Given the description of an element on the screen output the (x, y) to click on. 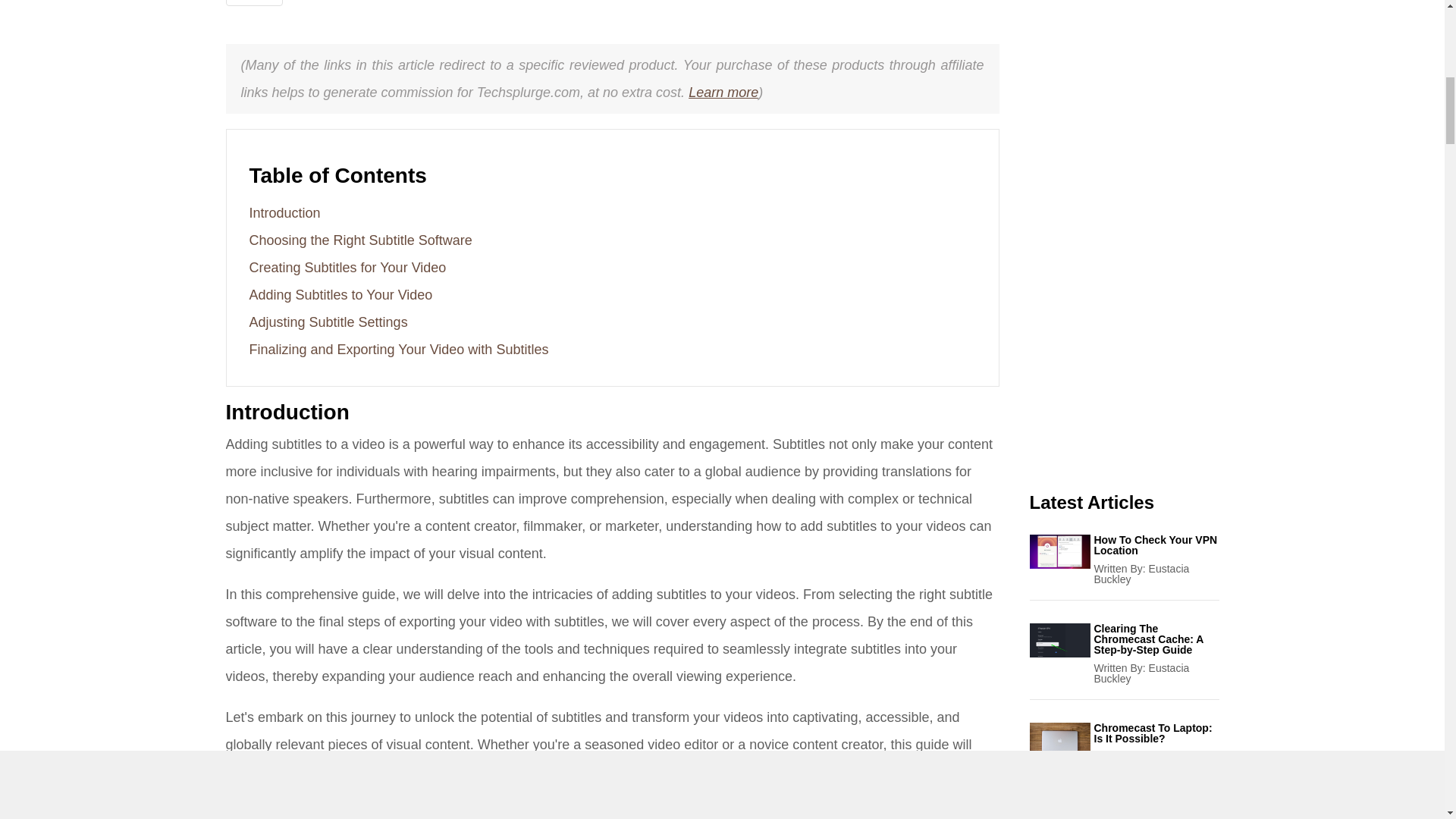
Finalizing and Exporting Your Video with Subtitles (398, 349)
Creating Subtitles for Your Video (346, 267)
Introduction (284, 212)
Adding Subtitles to Your Video (340, 294)
Choosing the Right Subtitle Software (359, 240)
Learn more (723, 92)
Adjusting Subtitle Settings (327, 322)
